Given the description of an element on the screen output the (x, y) to click on. 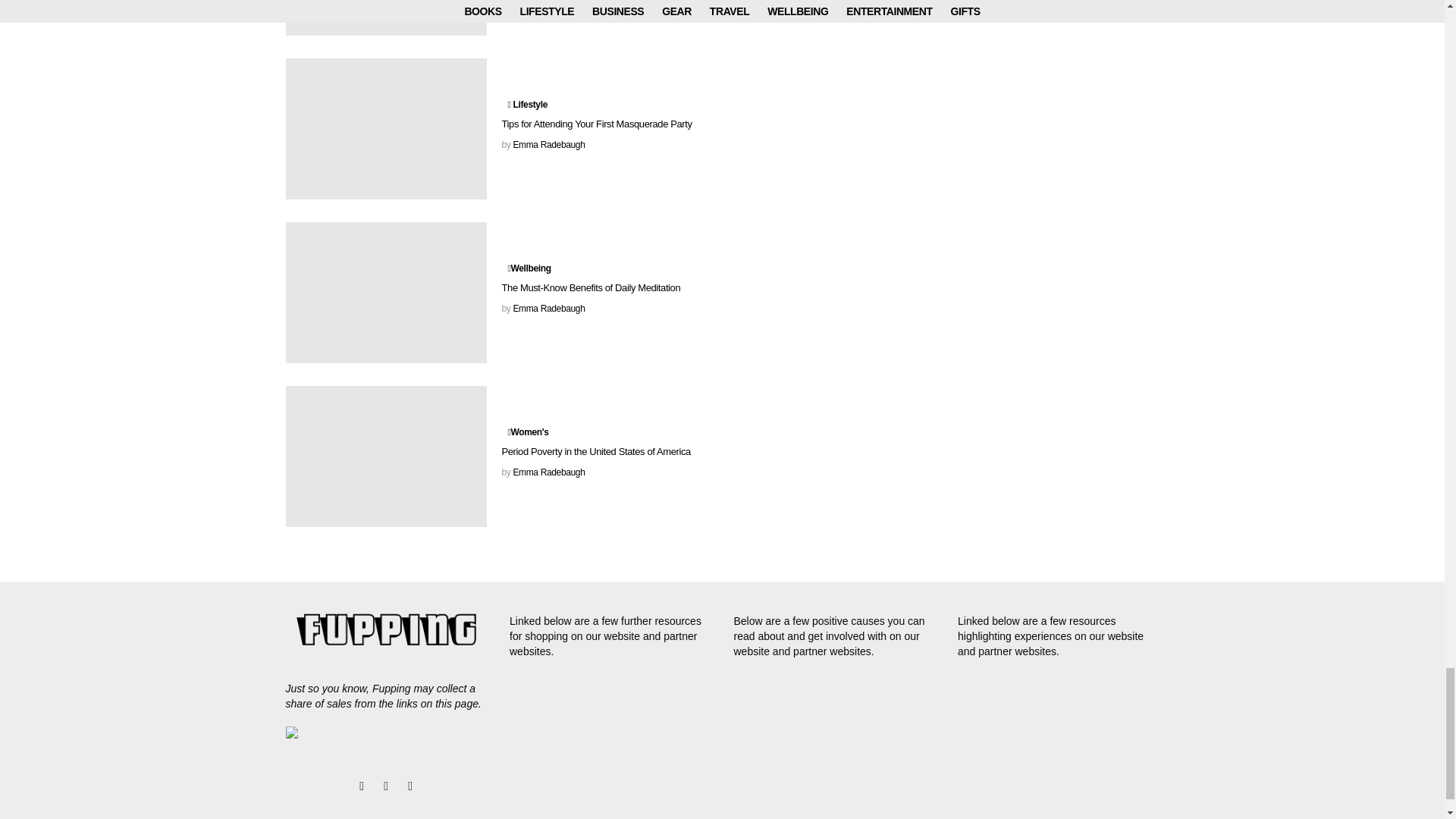
Common Terms Every Off-Roader Should Know (385, 18)
